Given the description of an element on the screen output the (x, y) to click on. 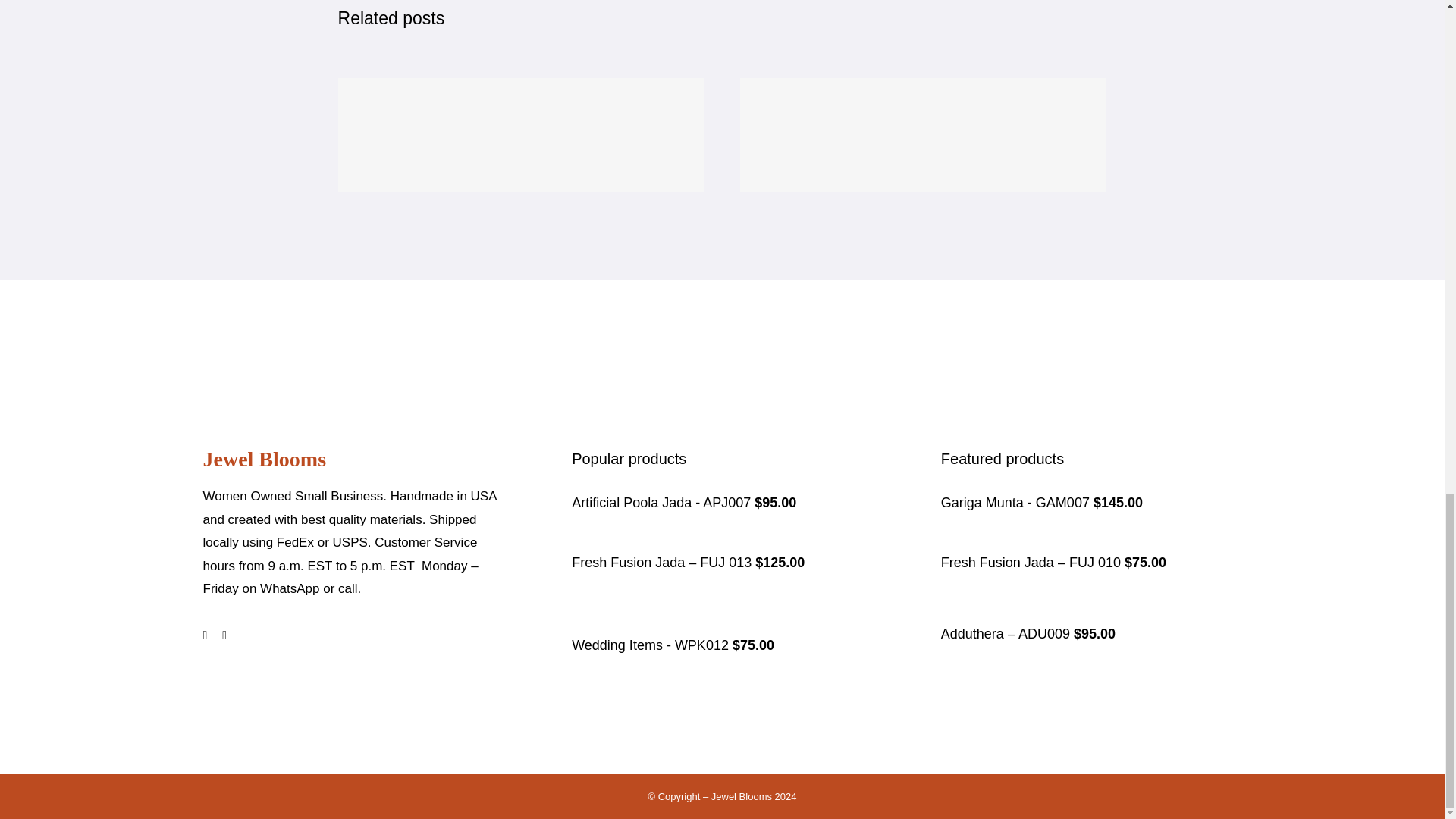
Artificial Poola Jada - APJ007 (663, 502)
Wedding Items - WPK012 (652, 645)
Gariga Munta - GAM007 (1016, 502)
